Given the description of an element on the screen output the (x, y) to click on. 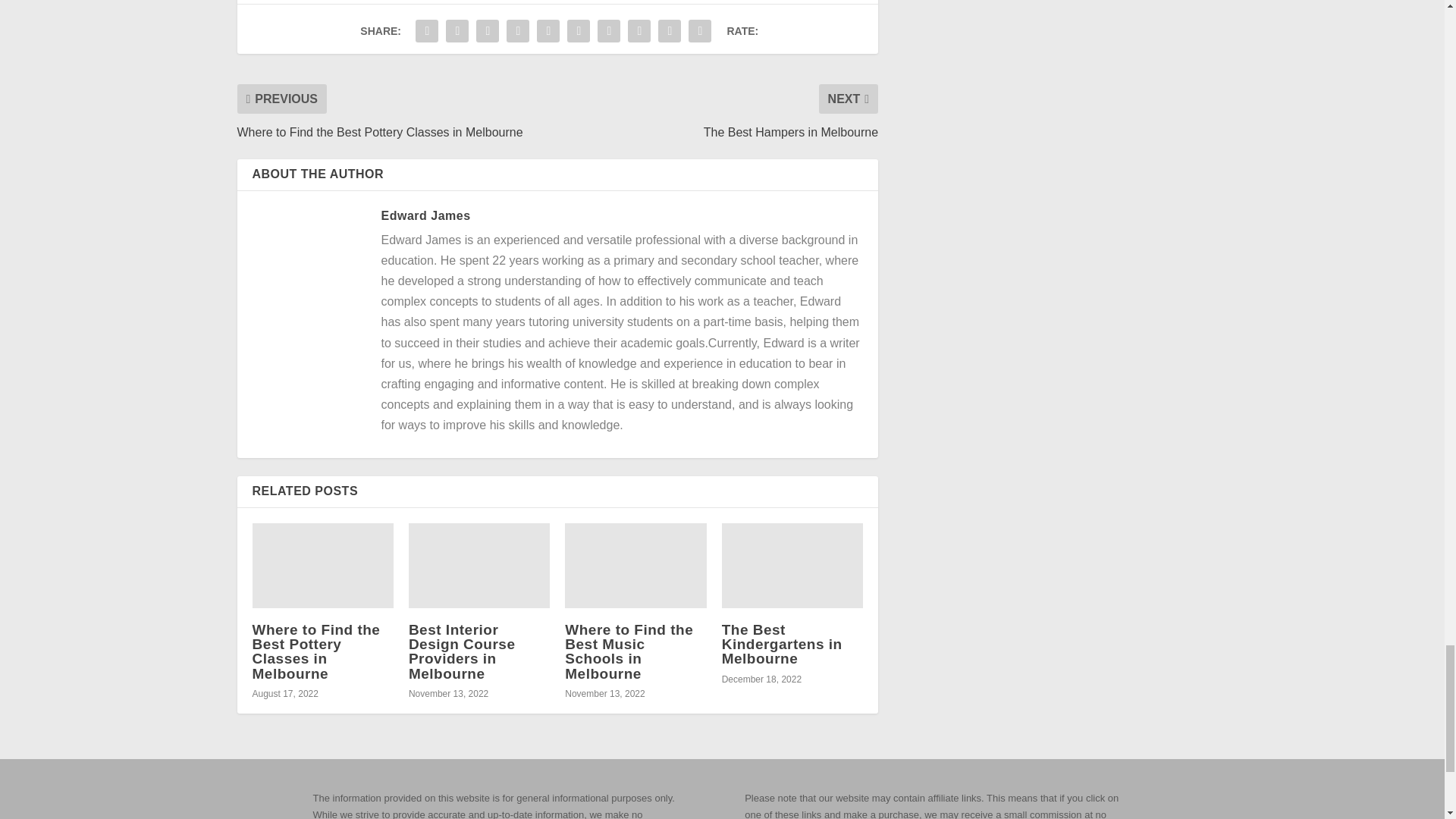
Share "Best Marketing Courses in Melbourne" via Email (668, 30)
Share "Best Marketing Courses in Melbourne" via Stumbleupon (638, 30)
Edward James (425, 215)
Share "Best Marketing Courses in Melbourne" via Buffer (609, 30)
Share "Best Marketing Courses in Melbourne" via Print (699, 30)
Share "Best Marketing Courses in Melbourne" via Facebook (427, 30)
Share "Best Marketing Courses in Melbourne" via Tumblr (517, 30)
Share "Best Marketing Courses in Melbourne" via LinkedIn (578, 30)
Where to Find the Best Pottery Classes in Melbourne (315, 651)
Share "Best Marketing Courses in Melbourne" via Pinterest (547, 30)
Share "Best Marketing Courses in Melbourne" via Twitter (456, 30)
